Given the description of an element on the screen output the (x, y) to click on. 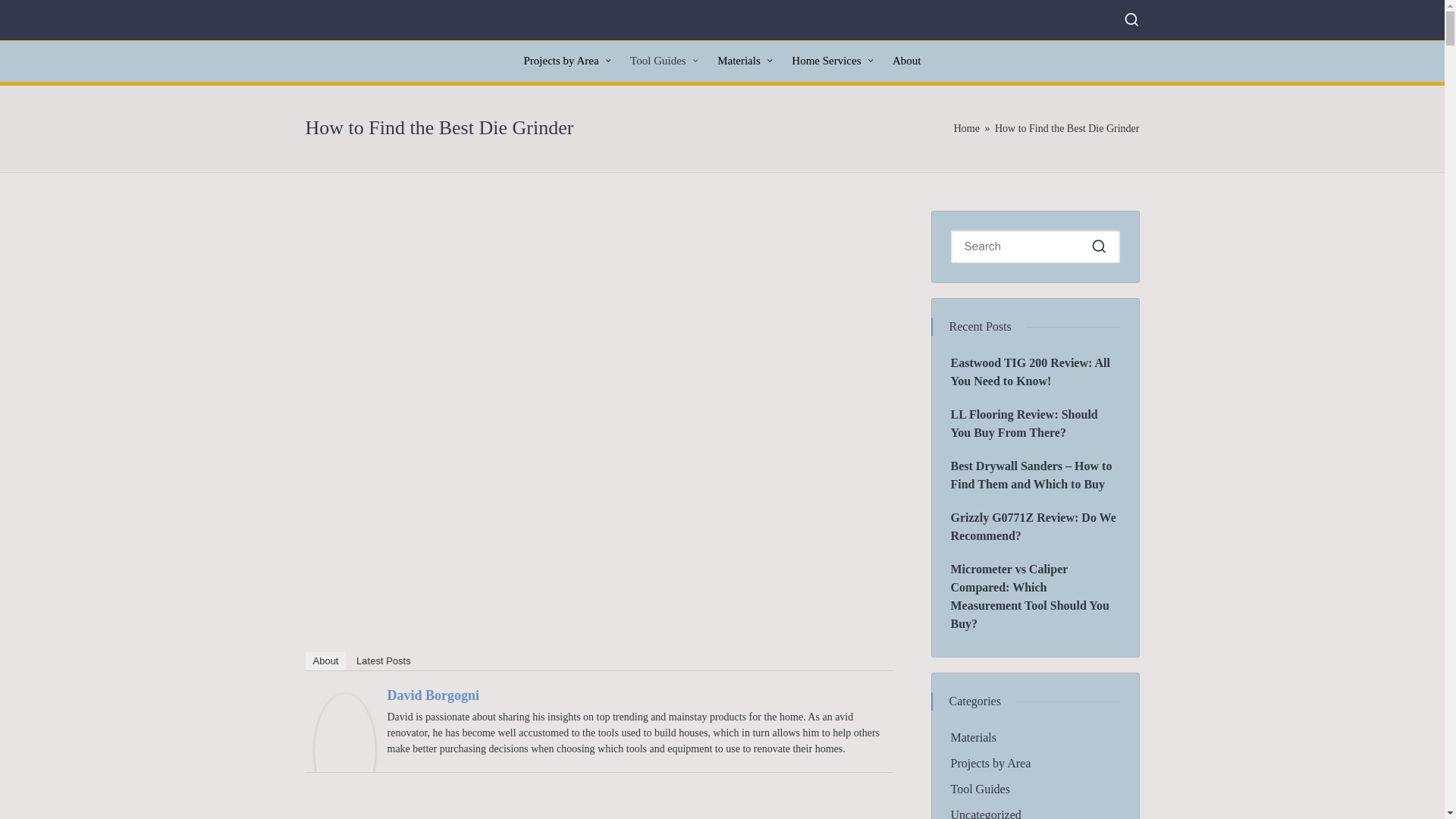
Projects by Area (566, 60)
Tool Guides (664, 60)
David Borgogni (344, 748)
